Given the description of an element on the screen output the (x, y) to click on. 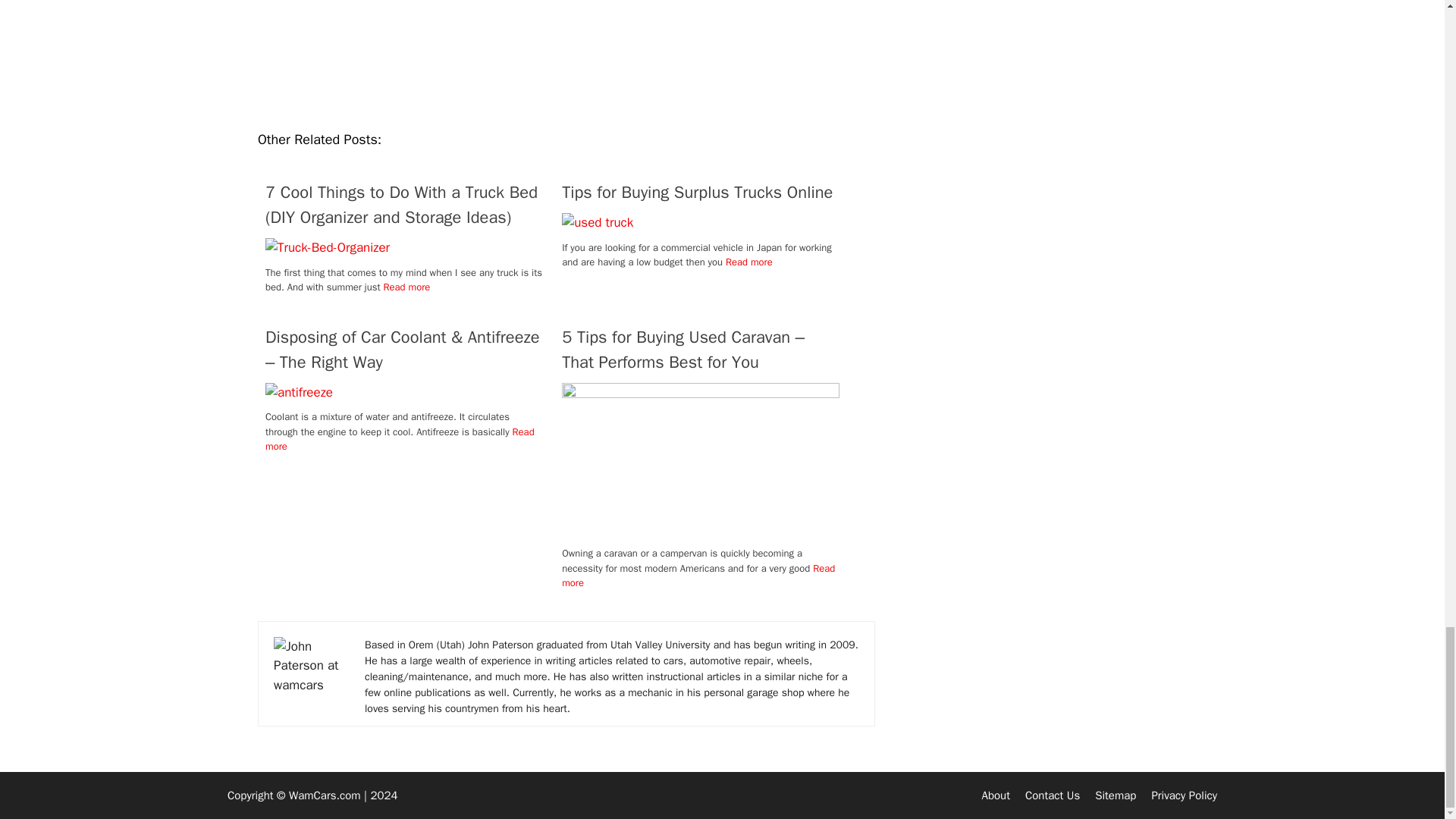
Read more (407, 286)
Read more (698, 575)
Sitemap (1114, 795)
Contact Us (1052, 795)
Read more (749, 261)
Privacy Policy (1184, 795)
Tips for Buying Surplus Trucks Online (701, 192)
Tips for Buying Surplus Trucks Online (701, 192)
Read more (399, 439)
About (995, 795)
Tips for Buying Surplus Trucks Online (597, 222)
How to use the Uber Freight App (566, 57)
